Given the description of an element on the screen output the (x, y) to click on. 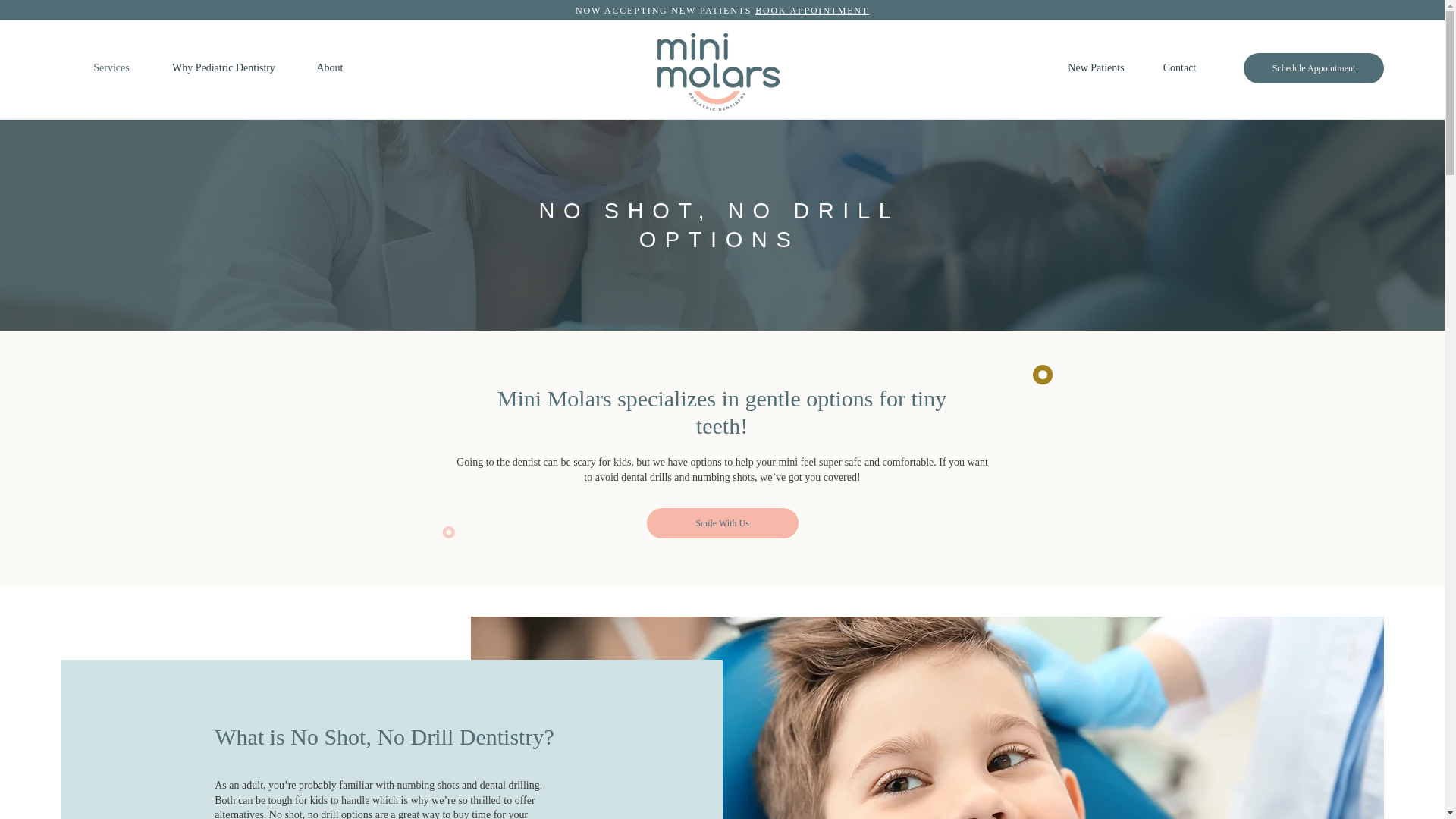
Schedule Appointment (1313, 68)
BOOK APPOINTMENT (812, 9)
Contact (1179, 67)
New Patients (1096, 67)
image.png (1042, 374)
About (329, 67)
Services (112, 67)
Smile With Us (721, 522)
Why Pediatric Dentistry (224, 67)
